Given the description of an element on the screen output the (x, y) to click on. 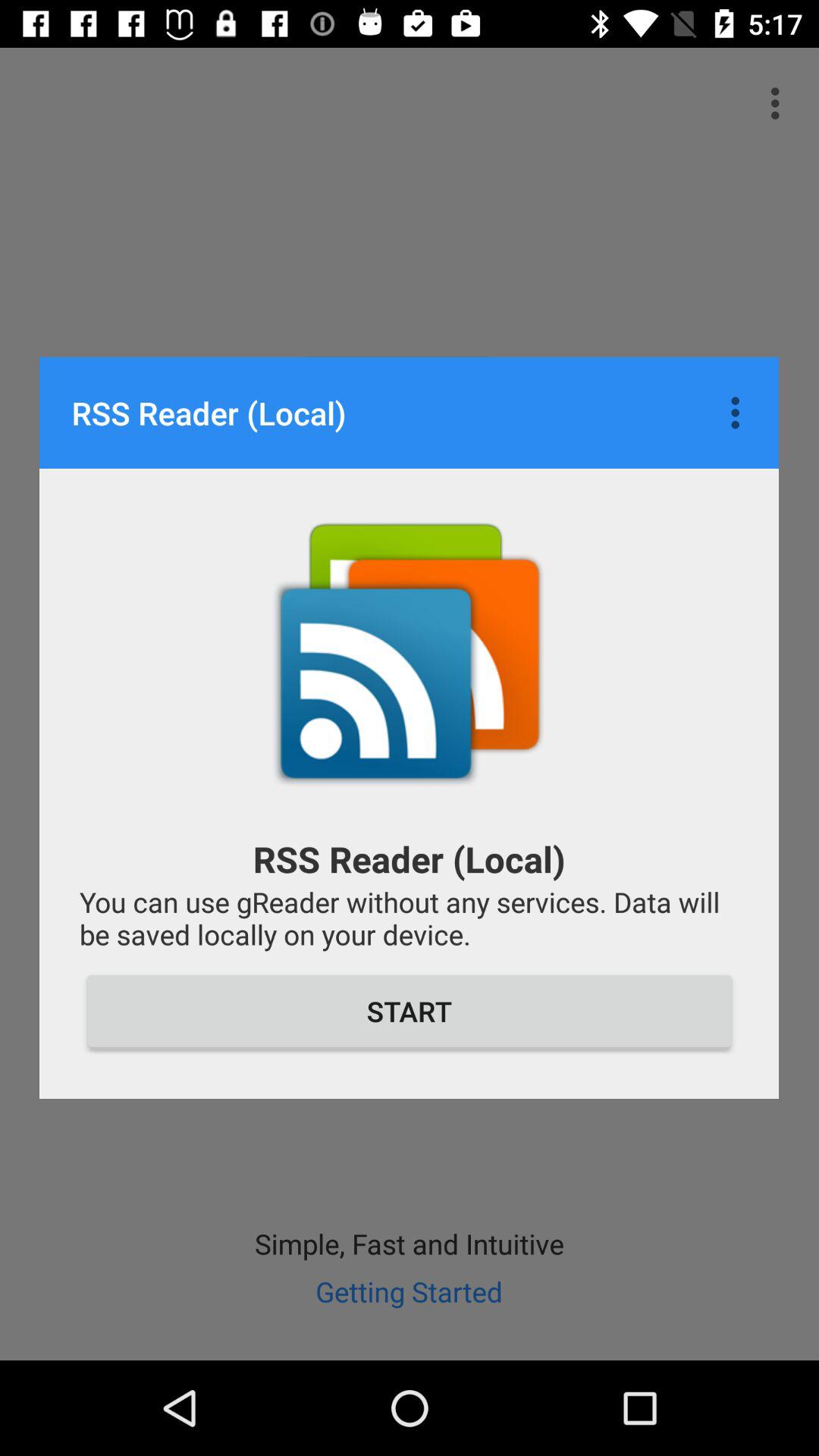
turn on the icon at the bottom (409, 1011)
